Given the description of an element on the screen output the (x, y) to click on. 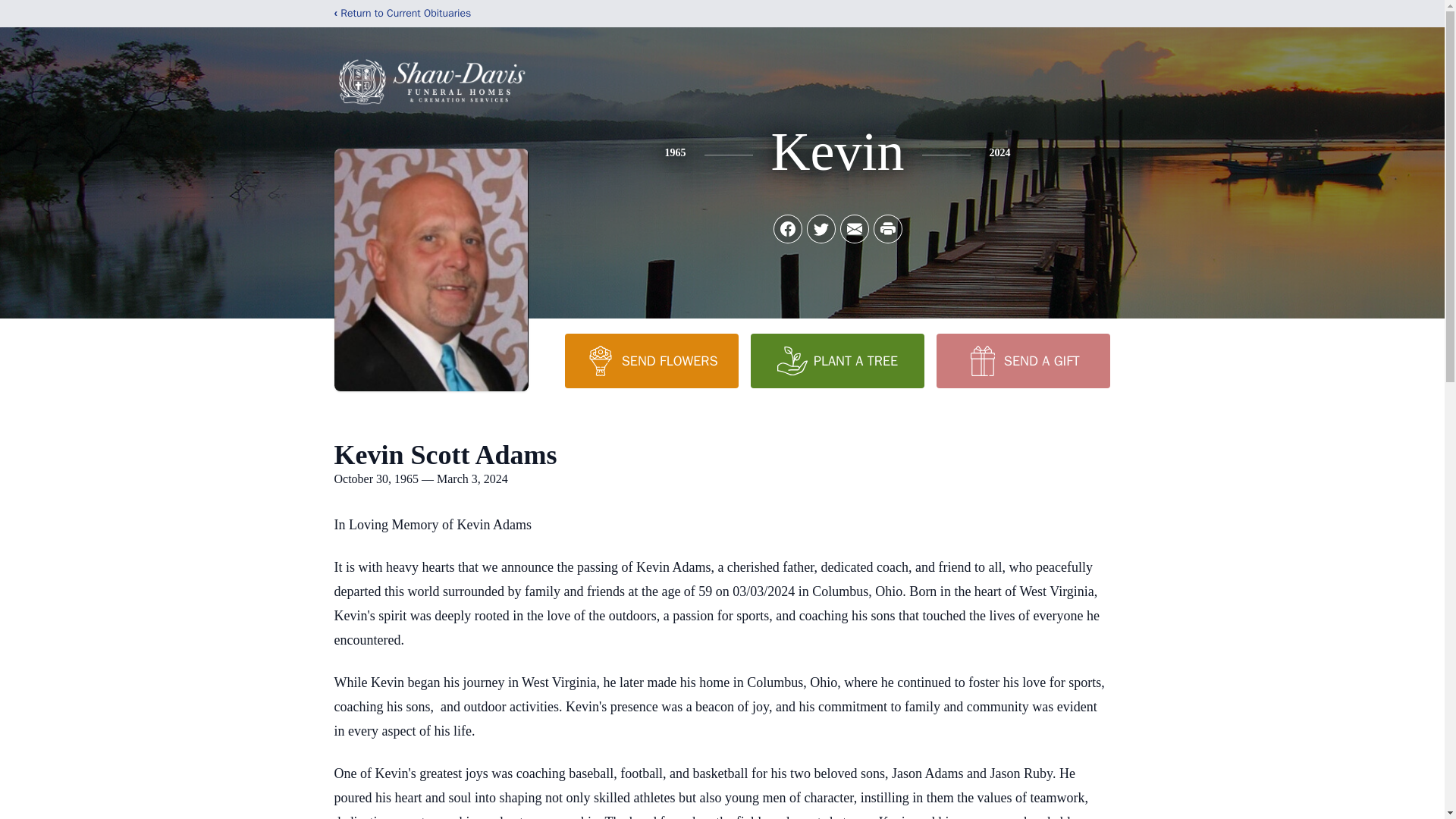
SEND A GIFT (1022, 360)
PLANT A TREE (837, 360)
SEND FLOWERS (651, 360)
